Given the description of an element on the screen output the (x, y) to click on. 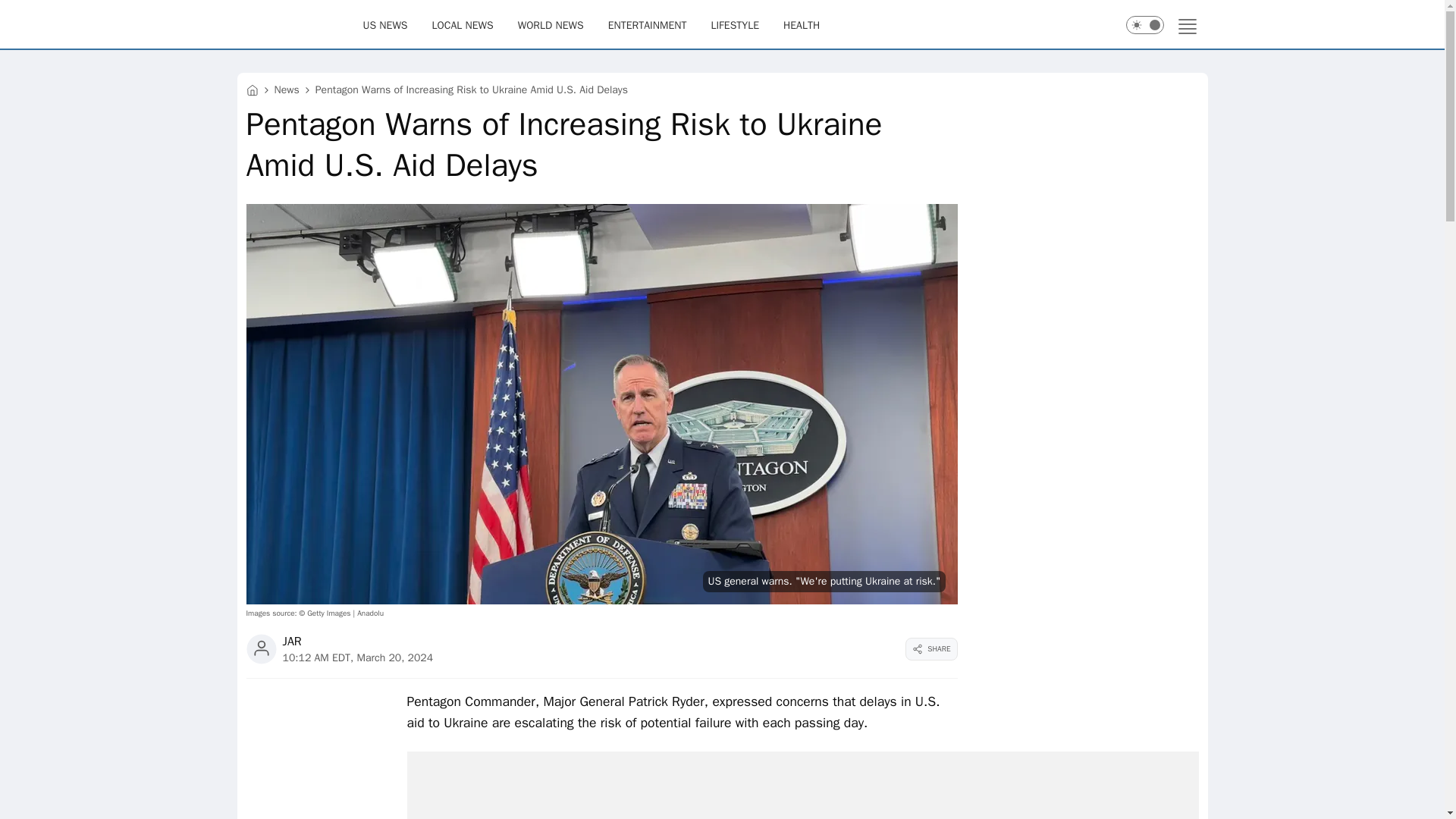
LOCAL NEWS (462, 24)
US NEWS (384, 24)
Homepage (298, 24)
JAR (291, 641)
SHARE (930, 649)
JAR (291, 641)
News (287, 89)
LIFESTYLE (734, 24)
WORLD NEWS (550, 24)
essanews.com (251, 89)
